Given the description of an element on the screen output the (x, y) to click on. 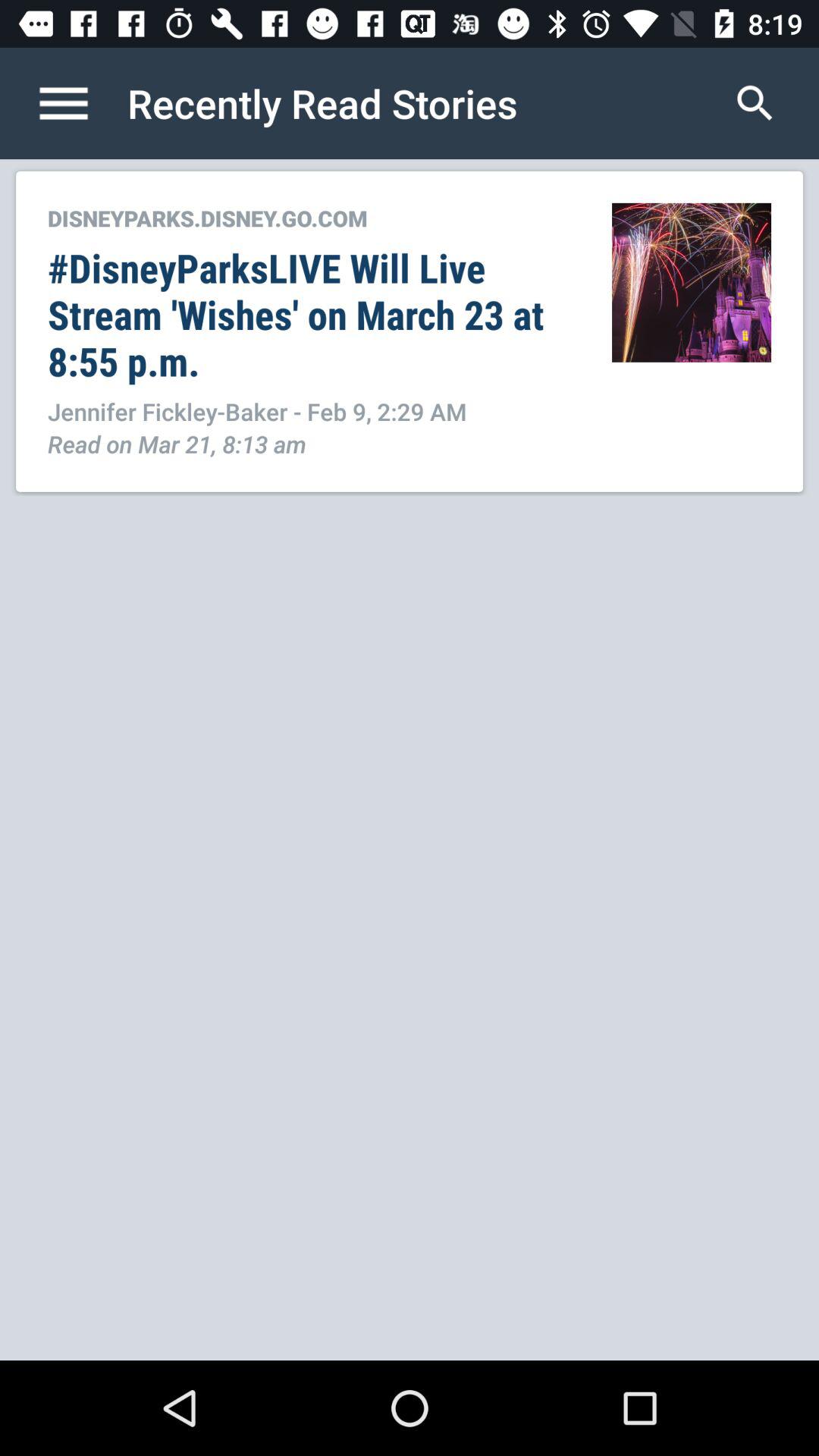
press the item next to recently read stories icon (79, 103)
